Given the description of an element on the screen output the (x, y) to click on. 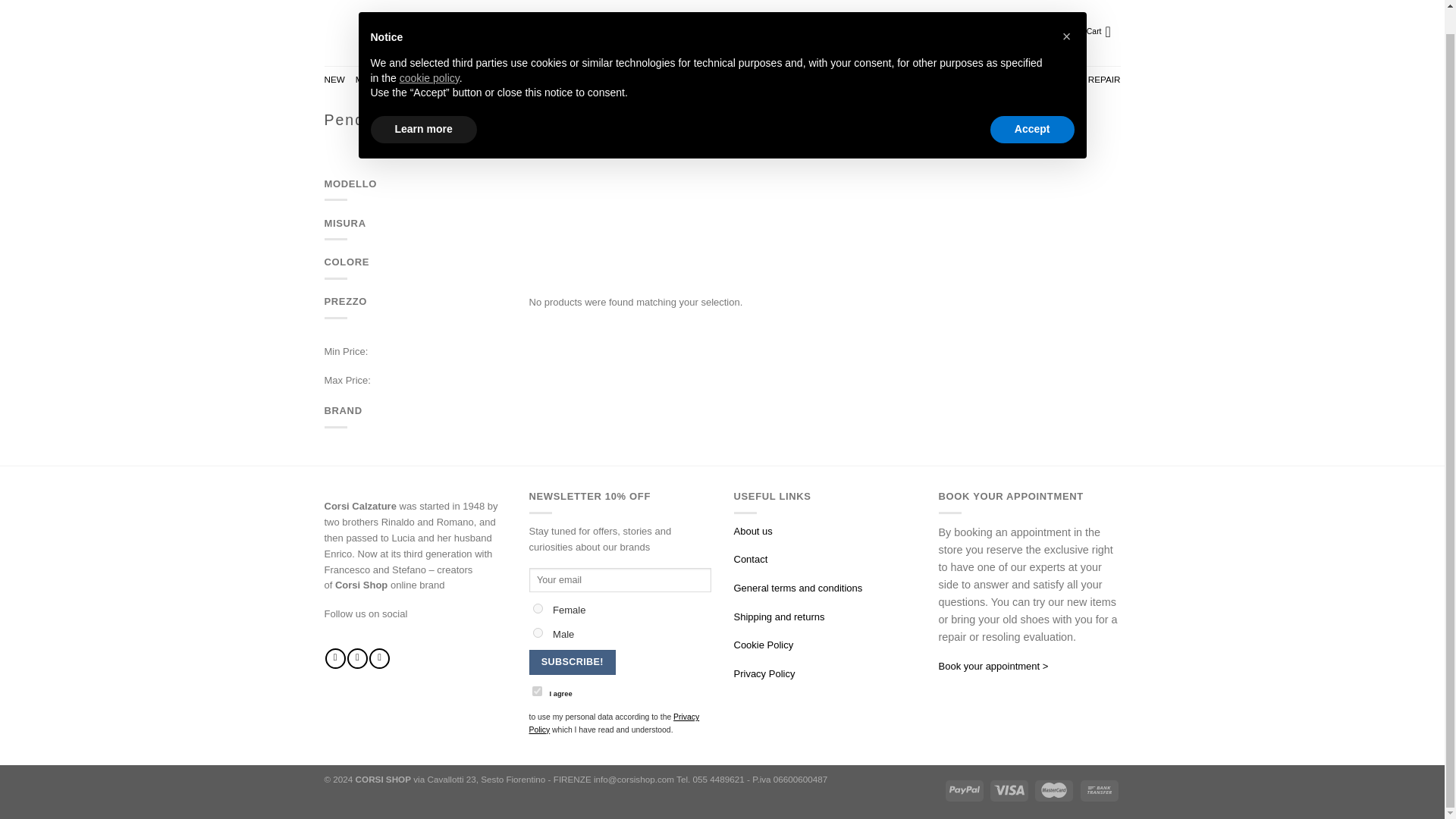
Follow on Facebook (335, 658)
Follow on Instagram (357, 658)
Subscribe! (572, 662)
GIFT CARD (1026, 79)
Subscribe! (572, 662)
Contact (750, 559)
BRANDS (449, 79)
Privacy Policy (763, 673)
Cookie Policy (763, 644)
WOMEN (402, 79)
